Given the description of an element on the screen output the (x, y) to click on. 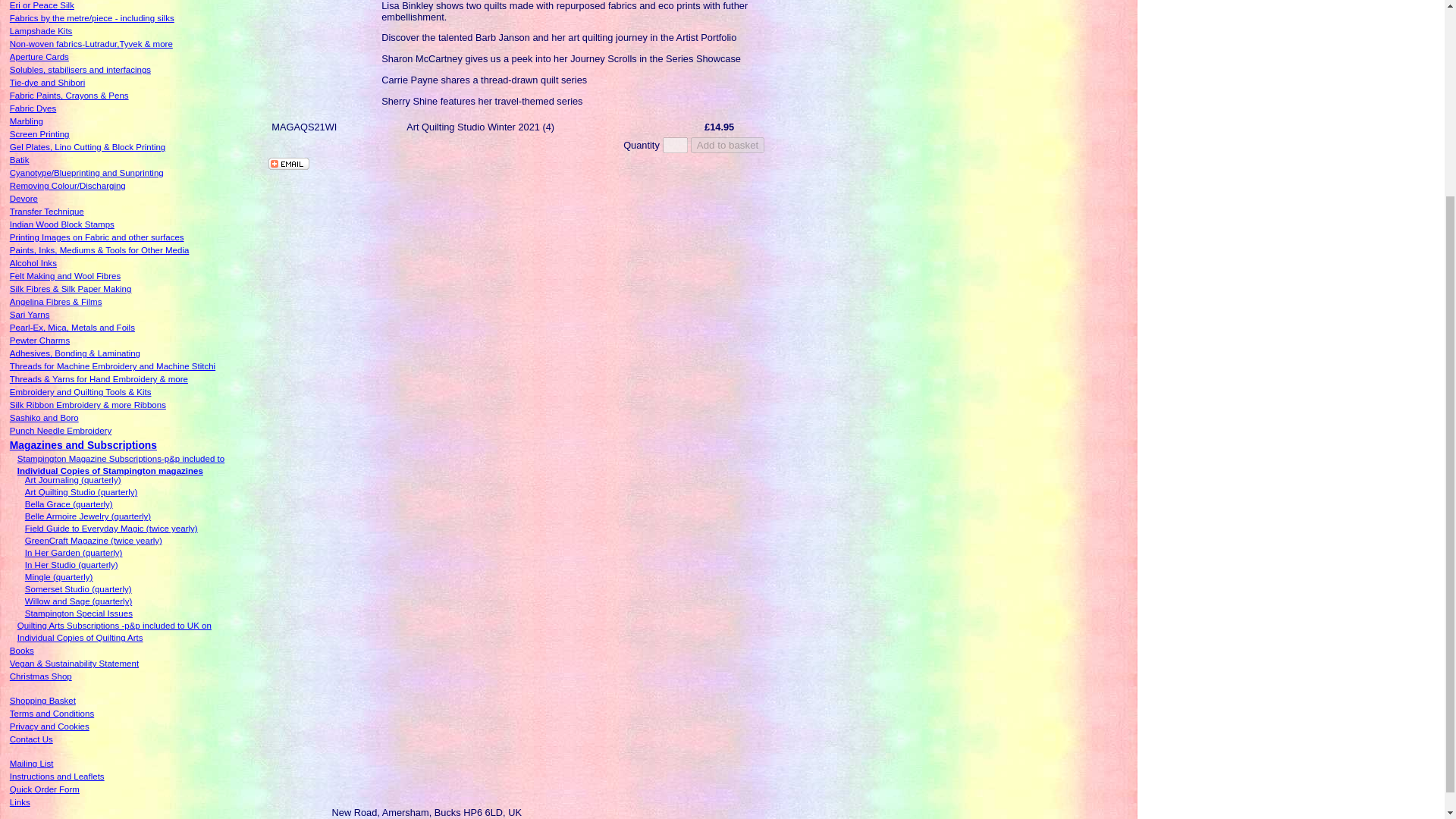
Printing Images on Fabric and other surfaces (97, 236)
Eri or Peace Silk (42, 4)
Lampshade Kits (41, 31)
Batik (19, 159)
Felt Making and Wool Fibres (65, 275)
Devore (23, 198)
Aperture Cards (39, 56)
Alcohol Inks (33, 262)
Solubles, stabilisers and interfacings (80, 69)
Tie-dye and Shibori (47, 81)
Screen Printing (39, 133)
Indian Wood Block Stamps (62, 224)
Transfer Technique (47, 211)
Fabric Dyes (33, 108)
Marbling (26, 121)
